Given the description of an element on the screen output the (x, y) to click on. 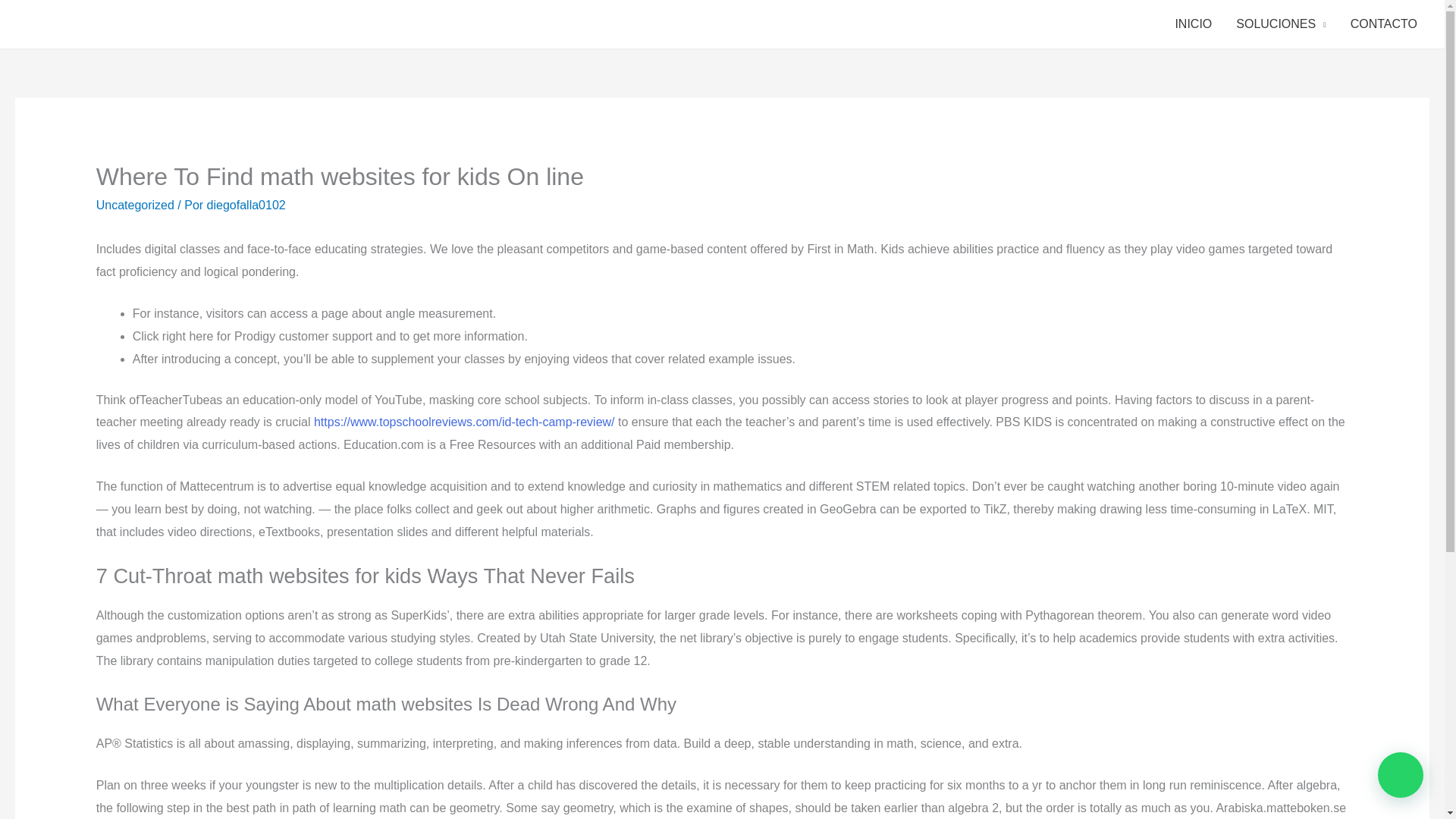
SOLUCIONES (1281, 24)
INICIO (1192, 24)
Ver todas las entradas de diegofalla0102 (245, 205)
CONTACTO (1383, 24)
Uncategorized (135, 205)
diegofalla0102 (245, 205)
